Given the description of an element on the screen output the (x, y) to click on. 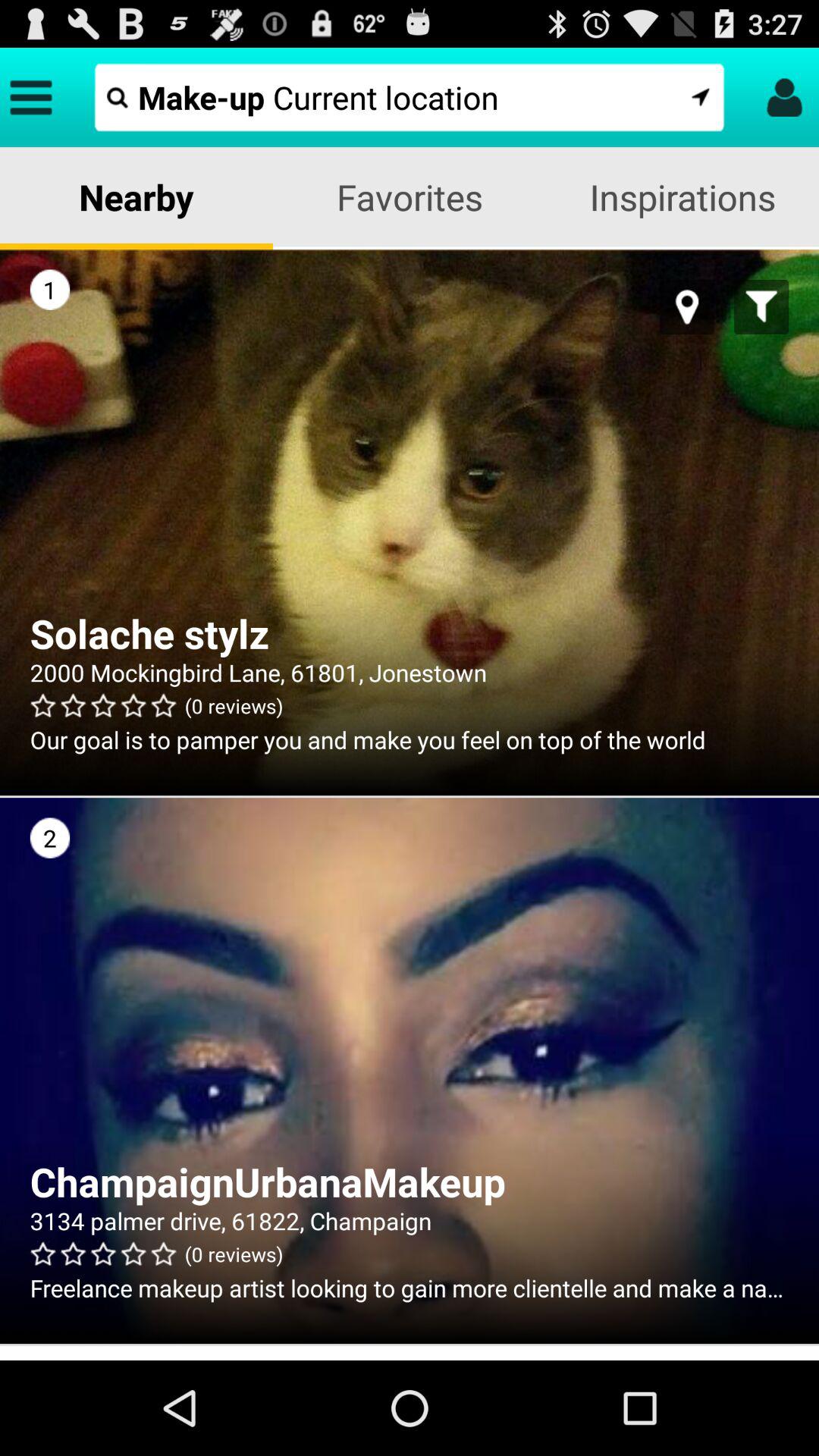
tap the item below the 2 (409, 1181)
